Given the description of an element on the screen output the (x, y) to click on. 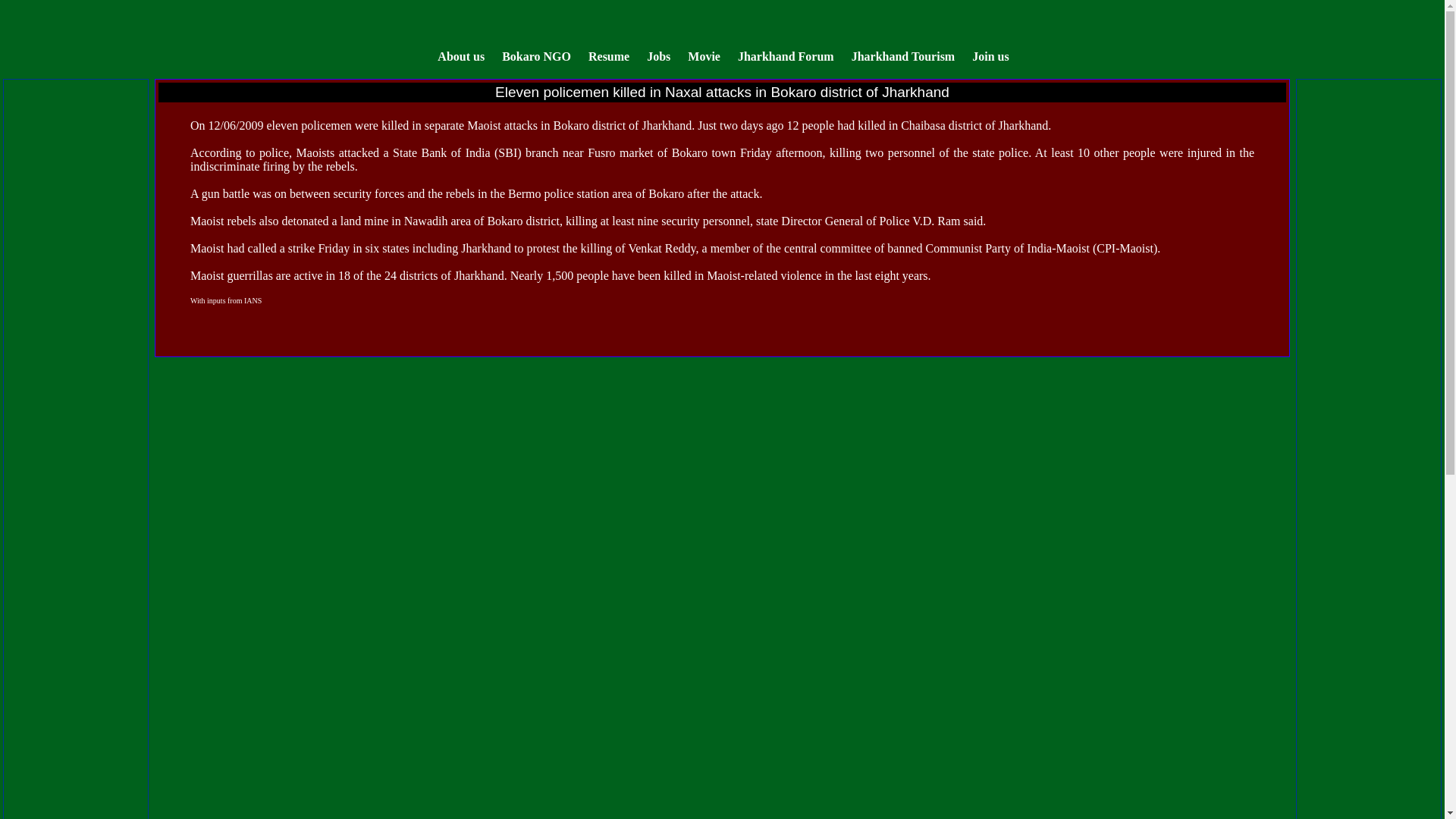
Join us (990, 55)
Bokaro NGO (536, 55)
Jharkhand Tourism (902, 55)
Jobs (658, 55)
Movie (703, 55)
Resume (608, 55)
About us (460, 55)
Jharkhand Forum (786, 55)
